Given the description of an element on the screen output the (x, y) to click on. 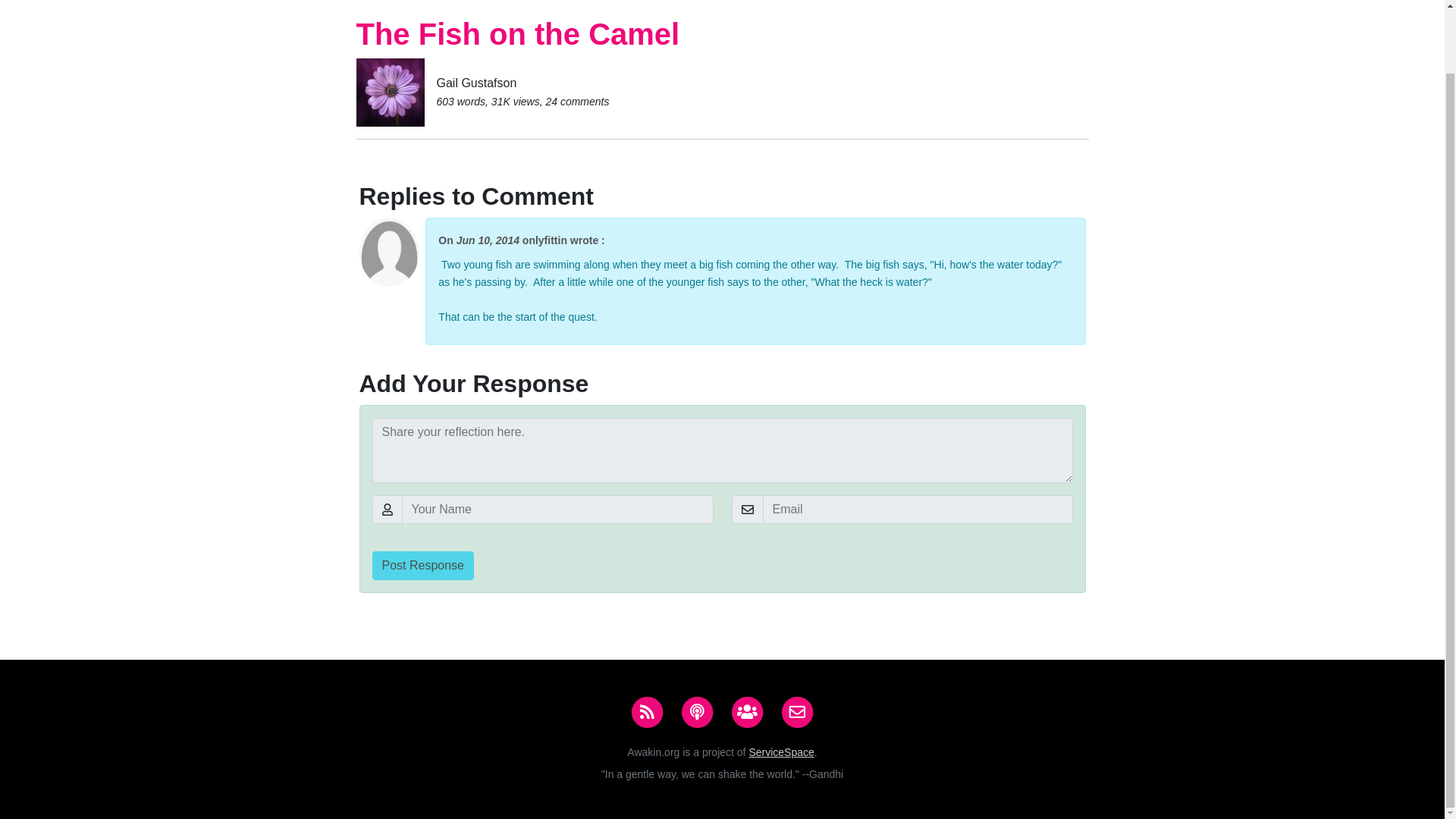
The Fish on the Camel (517, 33)
ServiceSpace (780, 752)
Post Response (422, 565)
